Given the description of an element on the screen output the (x, y) to click on. 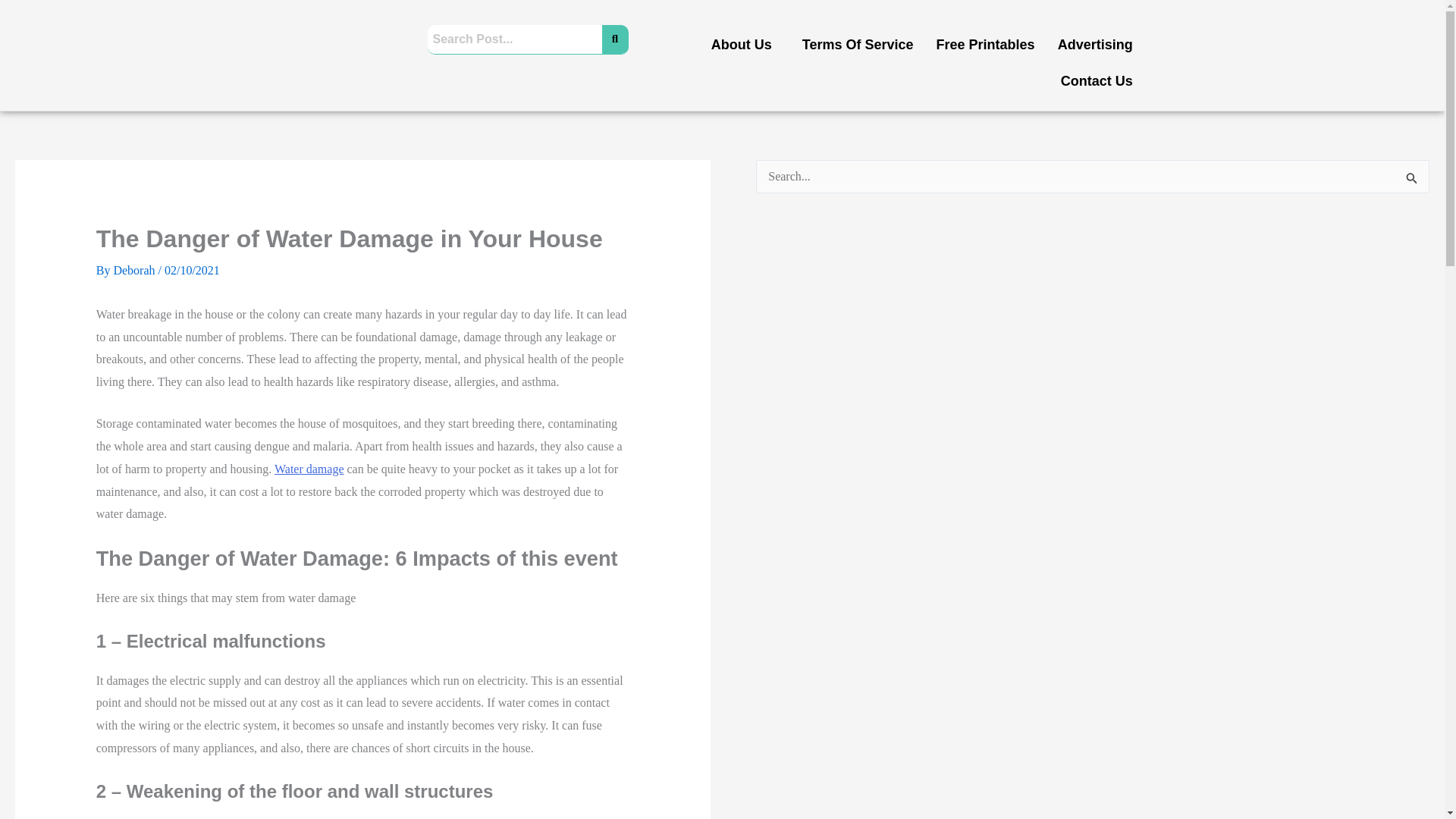
Advertising (1095, 44)
About Us (745, 44)
Search (515, 39)
Free Printables (985, 44)
View all posts by Deborah (135, 269)
Terms Of Service (857, 44)
Water damage (309, 468)
Contact Us (1096, 81)
Deborah (135, 269)
